Given the description of an element on the screen output the (x, y) to click on. 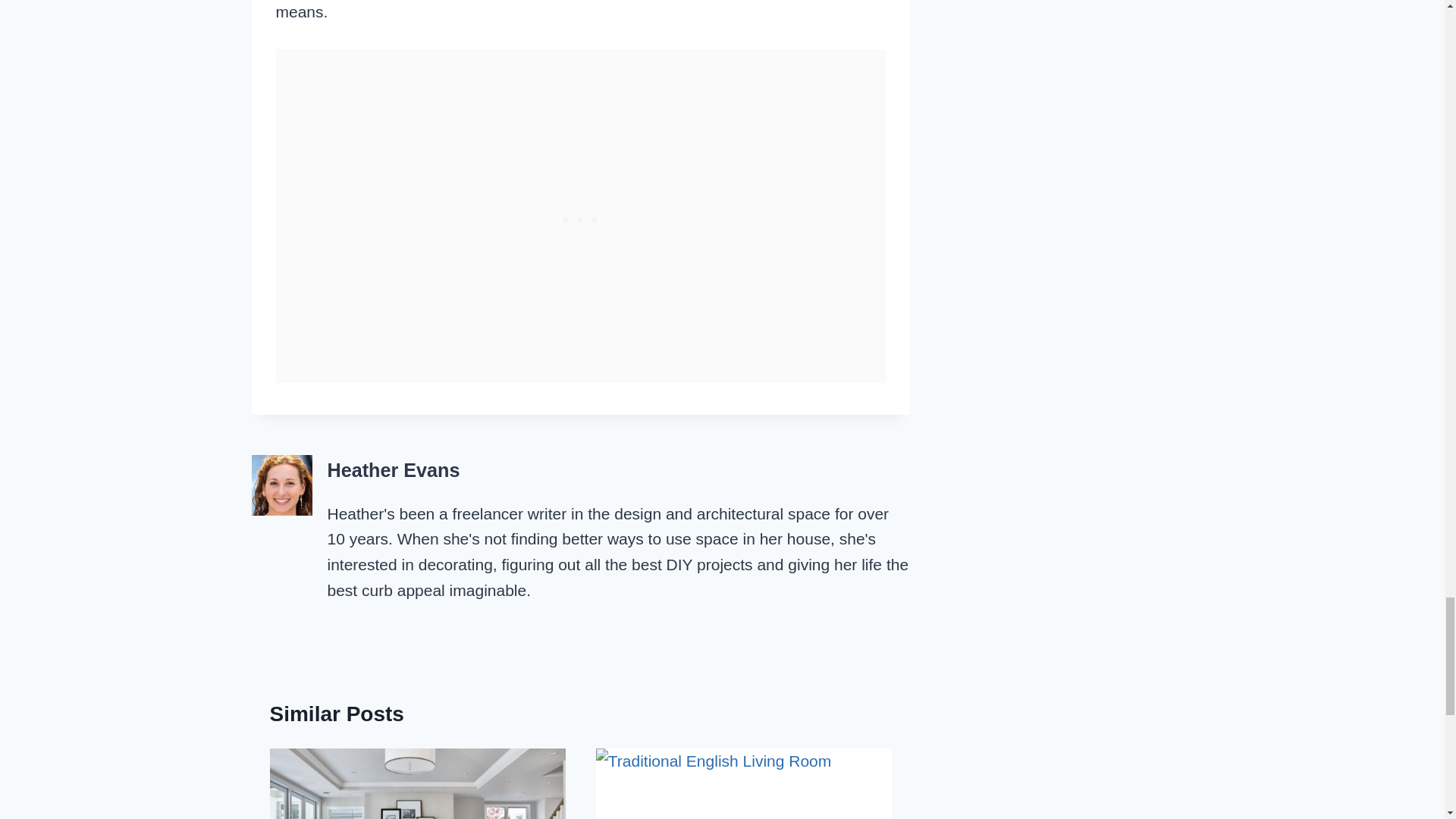
Posts by Heather Evans (393, 469)
